Given the description of an element on the screen output the (x, y) to click on. 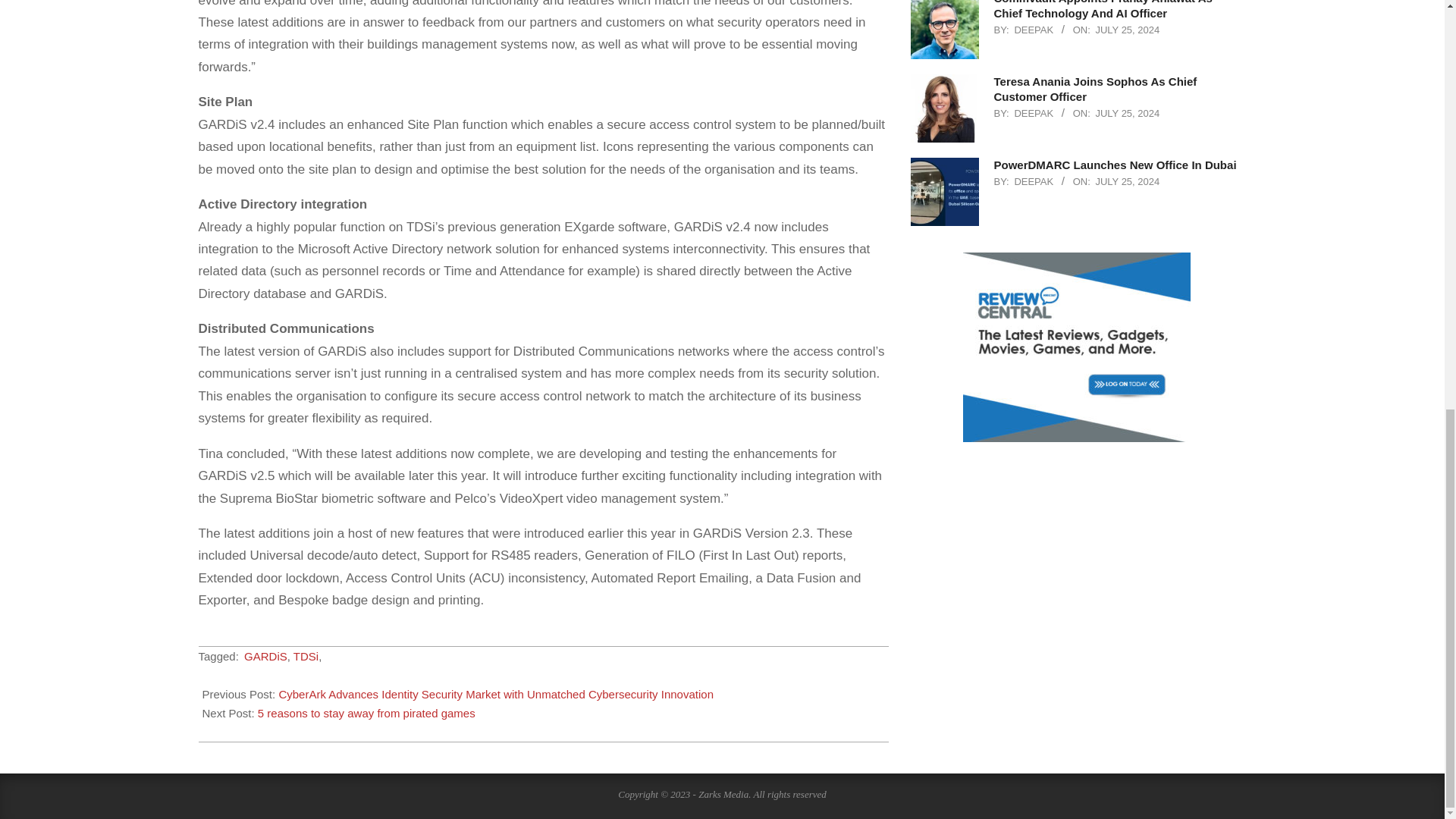
Thursday, July 25, 2024, 8:31 am (1126, 181)
Thursday, July 25, 2024, 11:26 am (1126, 30)
Posts by Deepak (1032, 30)
Thursday, July 25, 2024, 9:05 am (1126, 112)
Posts by Deepak (1032, 112)
Posts by Deepak (1032, 181)
